Given the description of an element on the screen output the (x, y) to click on. 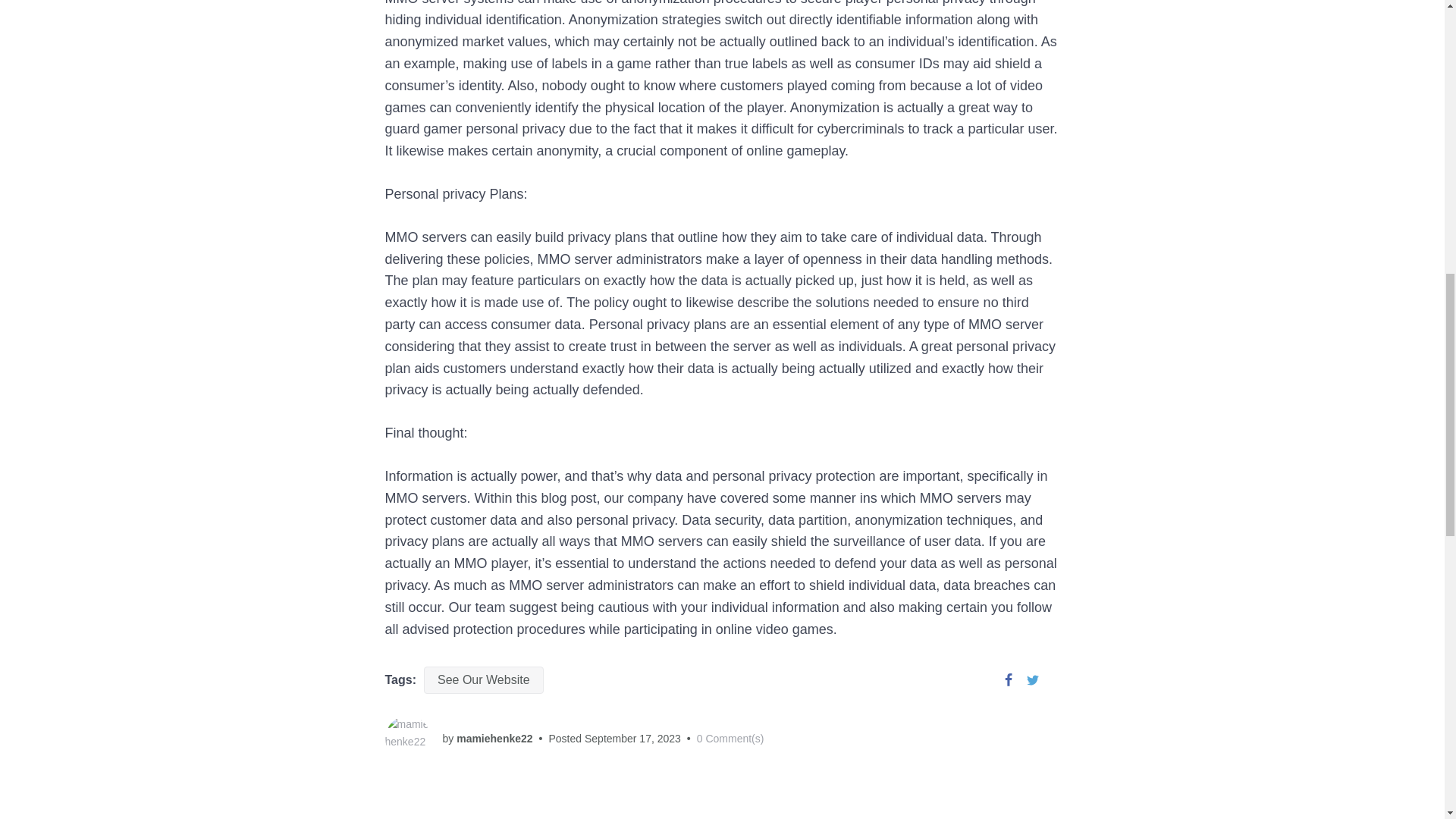
Share on Twitter (1032, 679)
See Our Website (483, 679)
Share on Facebook (1007, 679)
mamiehenke22 (494, 738)
September 17, 2023 (633, 738)
